Given the description of an element on the screen output the (x, y) to click on. 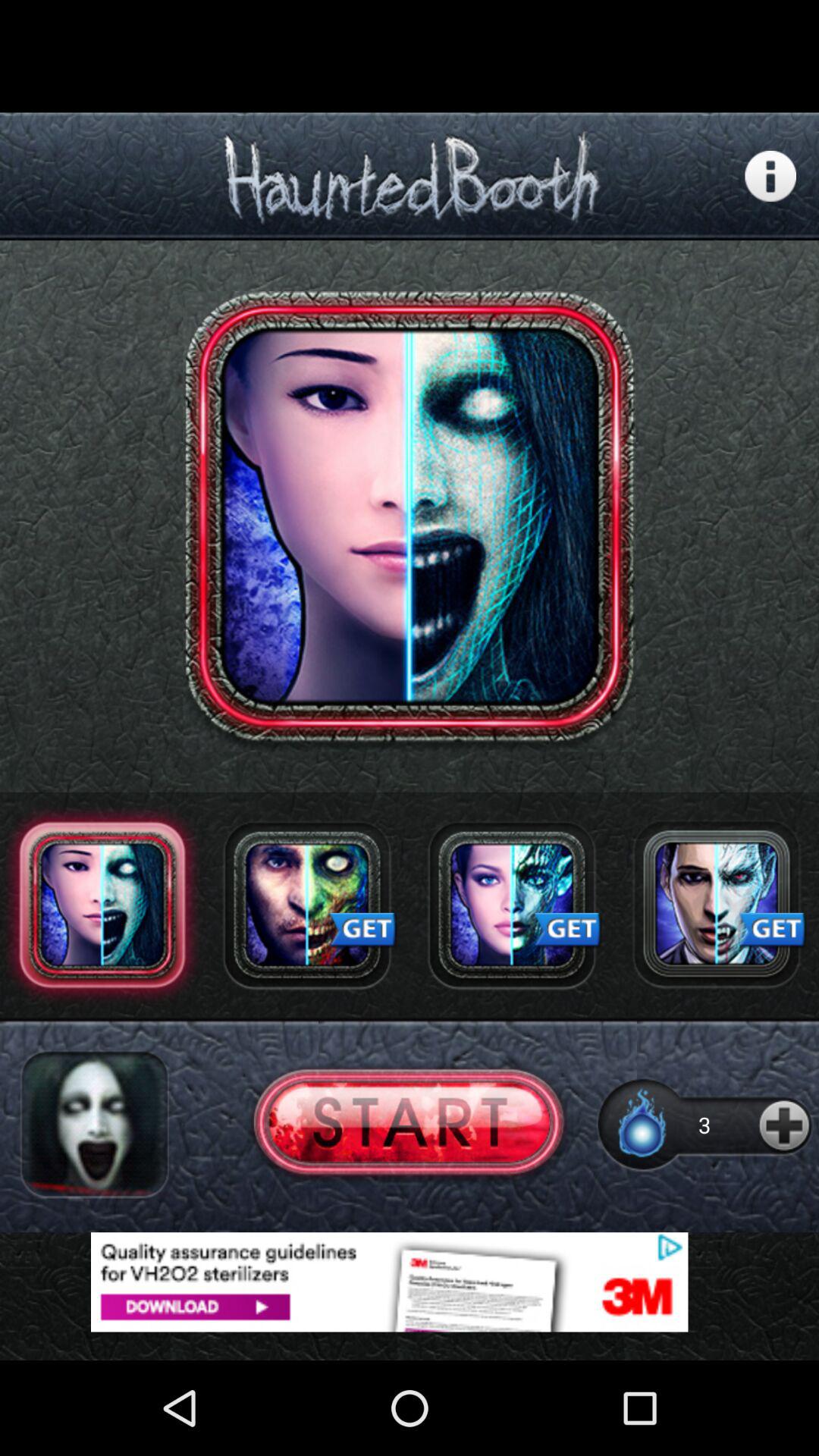
advertisement (409, 1282)
